Given the description of an element on the screen output the (x, y) to click on. 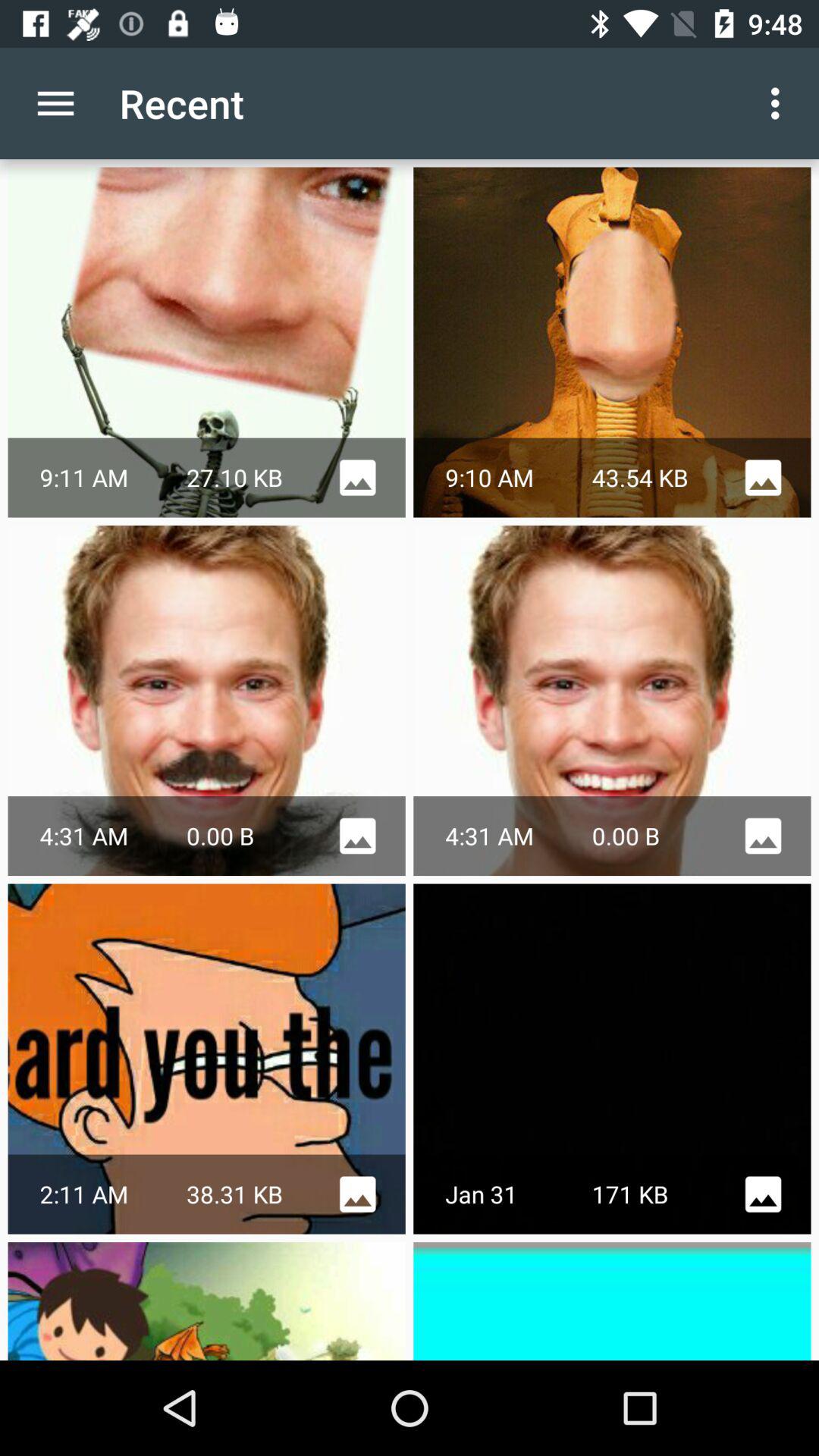
click item to the left of the recent item (55, 103)
